Given the description of an element on the screen output the (x, y) to click on. 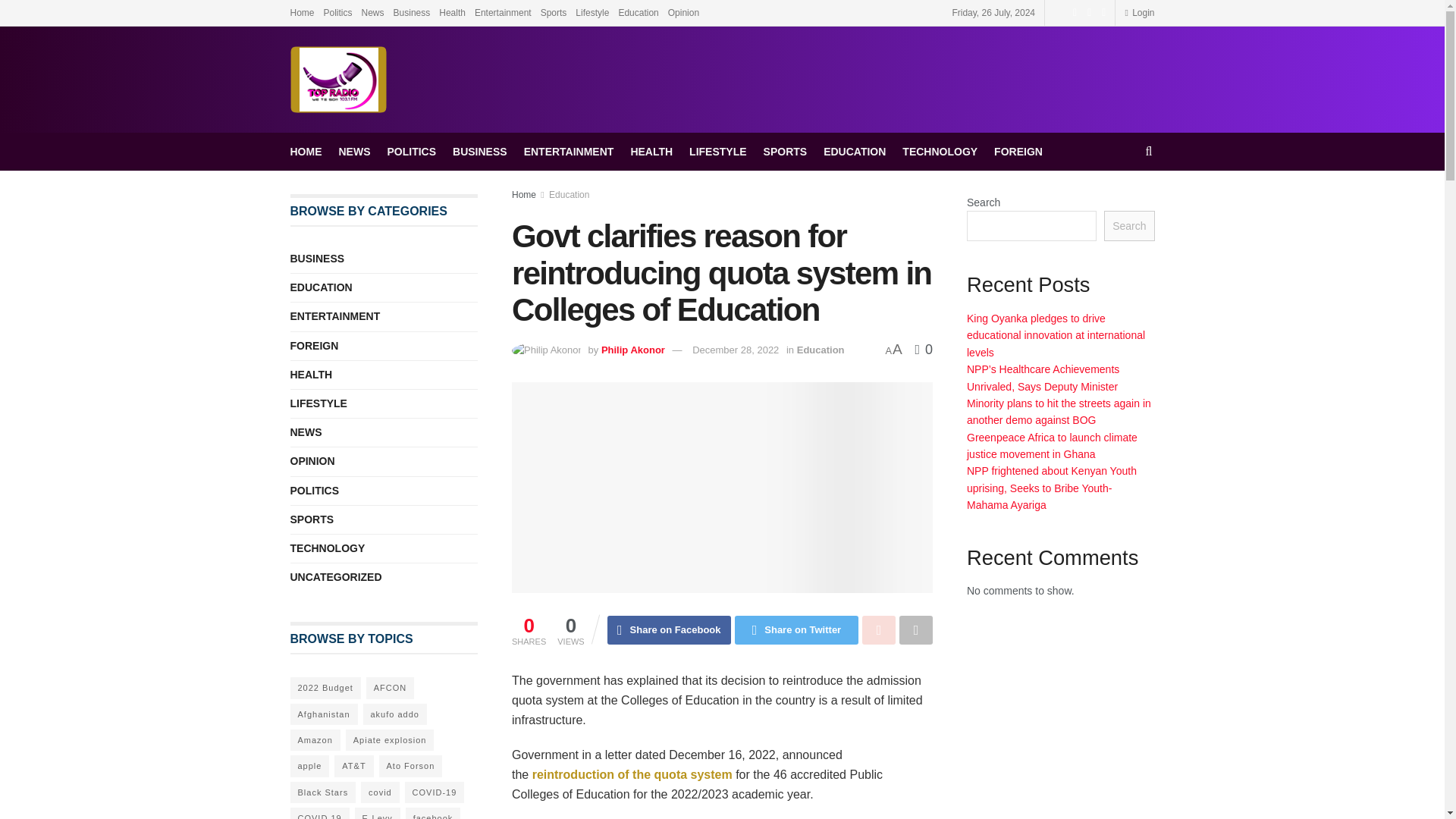
ENTERTAINMENT (569, 151)
POLITICS (411, 151)
Politics (337, 12)
Entertainment (502, 12)
FOREIGN (1018, 151)
Education (568, 194)
Business (411, 12)
Home (523, 194)
Login (1139, 12)
Lifestyle (591, 12)
Philip Akonor (633, 349)
LIFESTYLE (716, 151)
Health (452, 12)
SPORTS (785, 151)
Sports (553, 12)
